Given the description of an element on the screen output the (x, y) to click on. 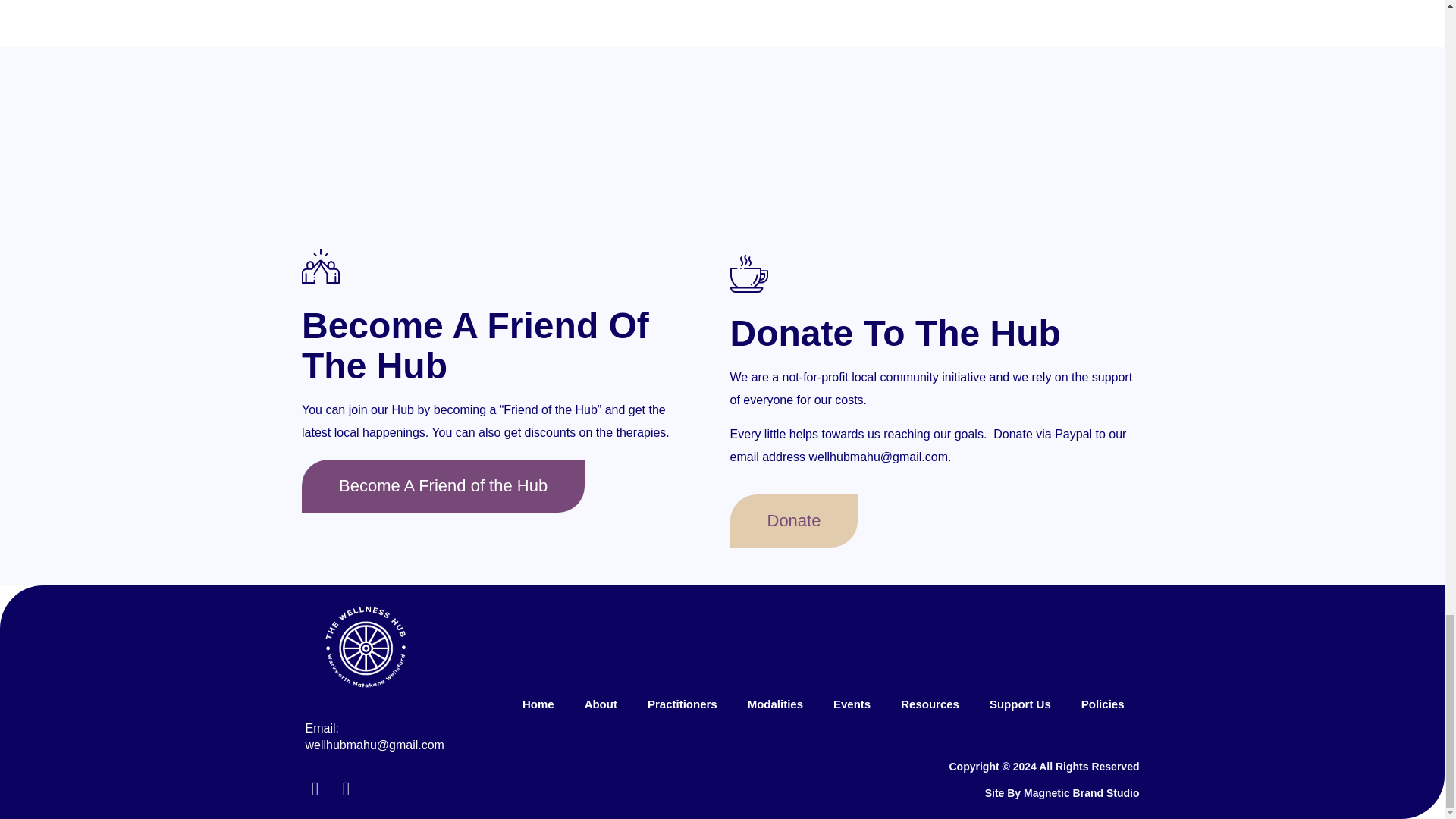
Resources (929, 704)
About (600, 704)
Become A Friend of the Hub (443, 485)
Support Us (1019, 704)
Donate (793, 520)
Events (851, 704)
Home (537, 704)
Practitioners (681, 704)
Modalities (775, 704)
